Given the description of an element on the screen output the (x, y) to click on. 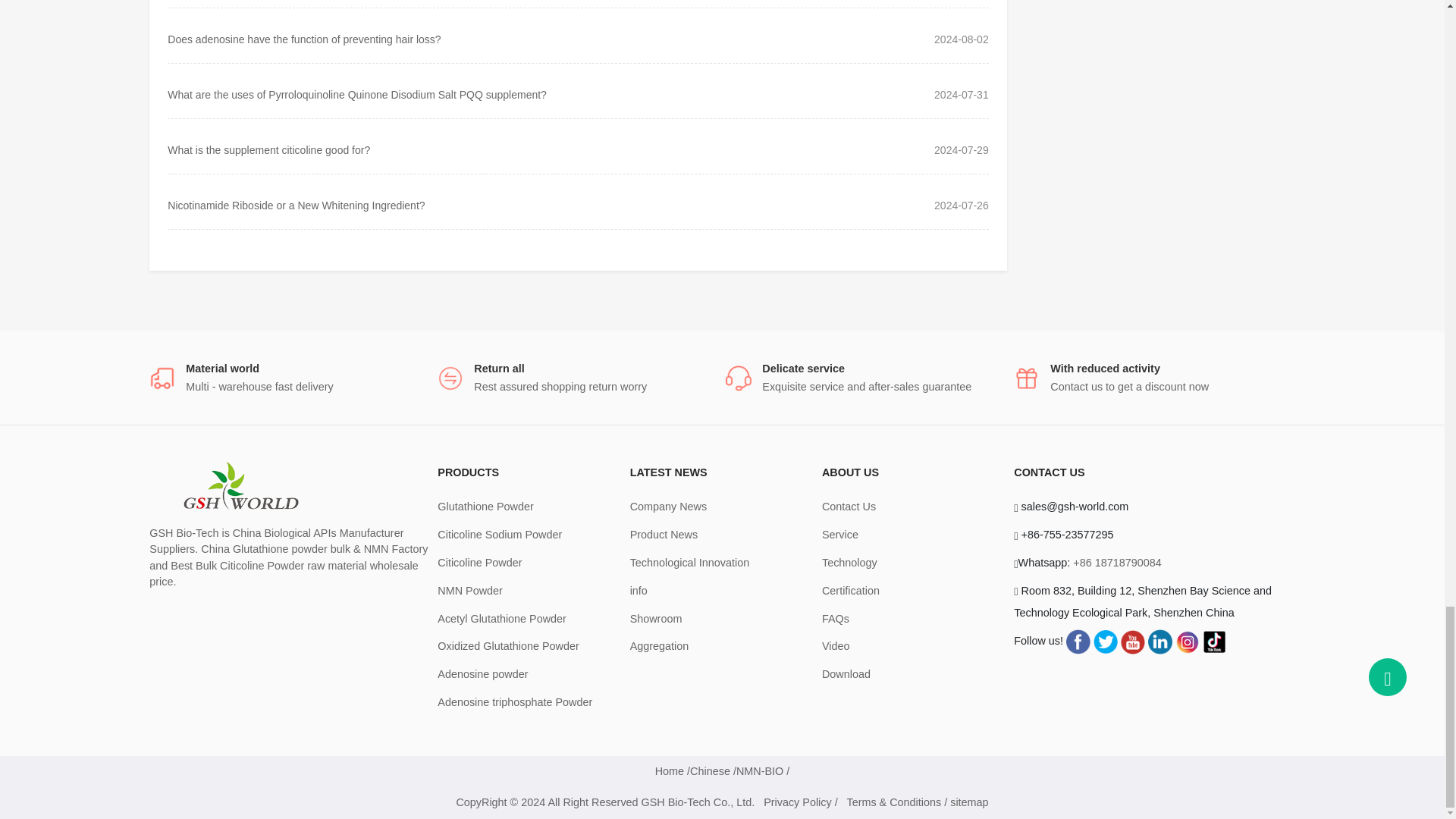
Does adenosine have the function of preventing hair loss? (304, 39)
Nicotinamide Riboside or a New Whitening Ingredient? (296, 205)
What is the supplement citicoline good for? (268, 150)
